Given the description of an element on the screen output the (x, y) to click on. 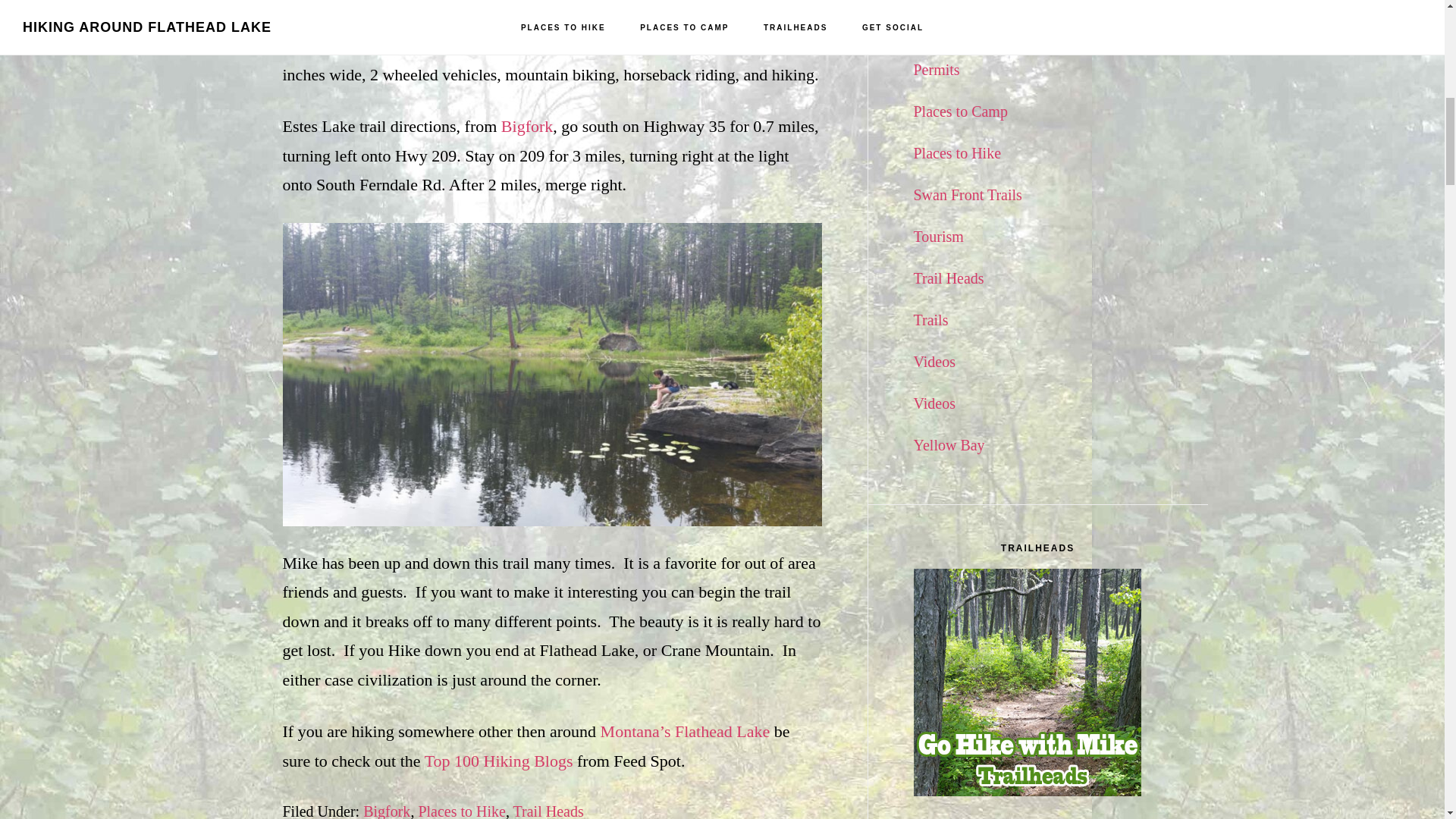
Top 100 Hiking Blogs (499, 760)
Bigfork (526, 126)
Bigfork (386, 811)
Trail Heads (548, 811)
Places to Hike (461, 811)
